Given the description of an element on the screen output the (x, y) to click on. 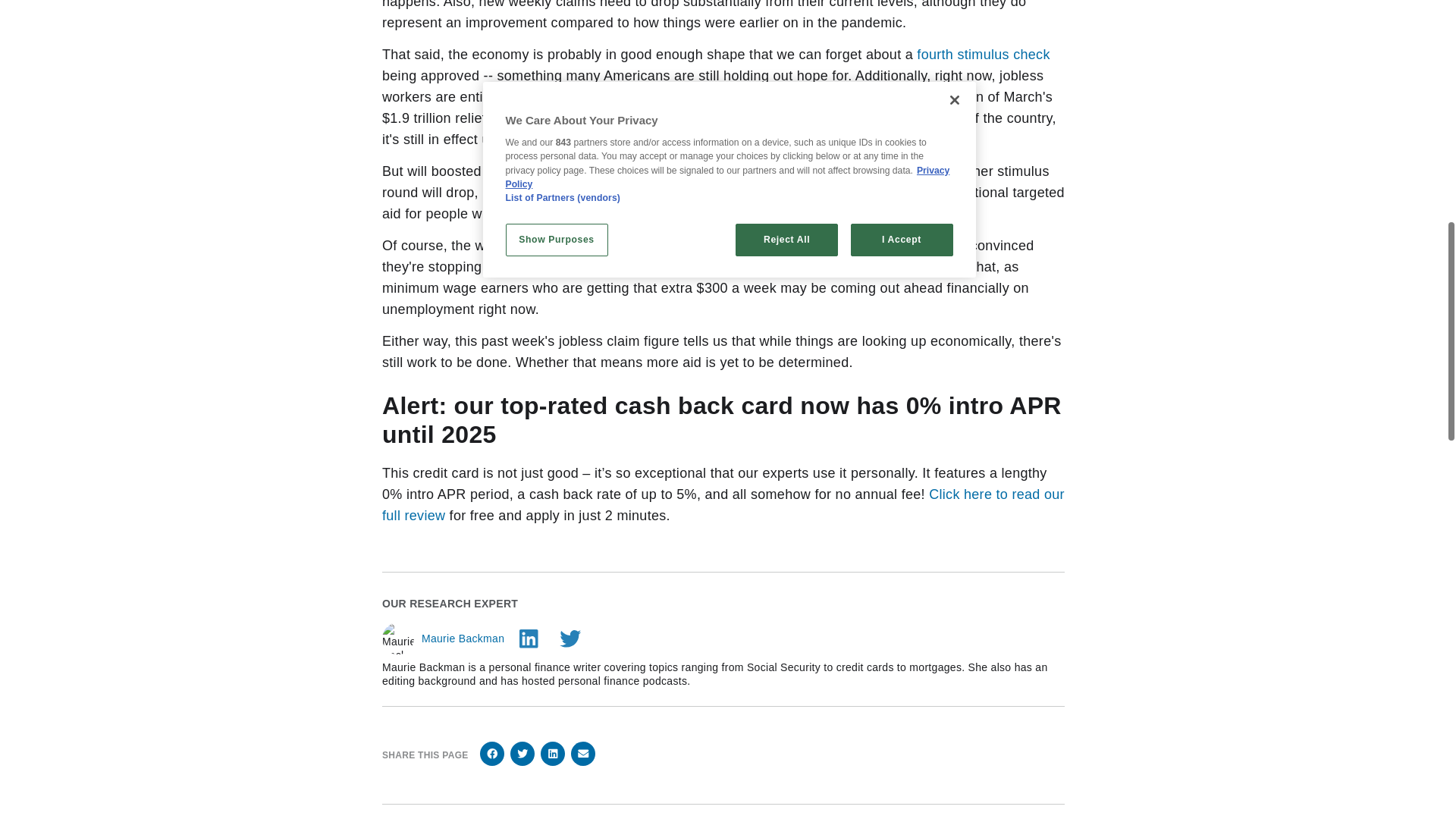
Email Icon Share this website with email (582, 753)
Blue Twitter Icon Share this website with Twitter (522, 753)
